Given the description of an element on the screen output the (x, y) to click on. 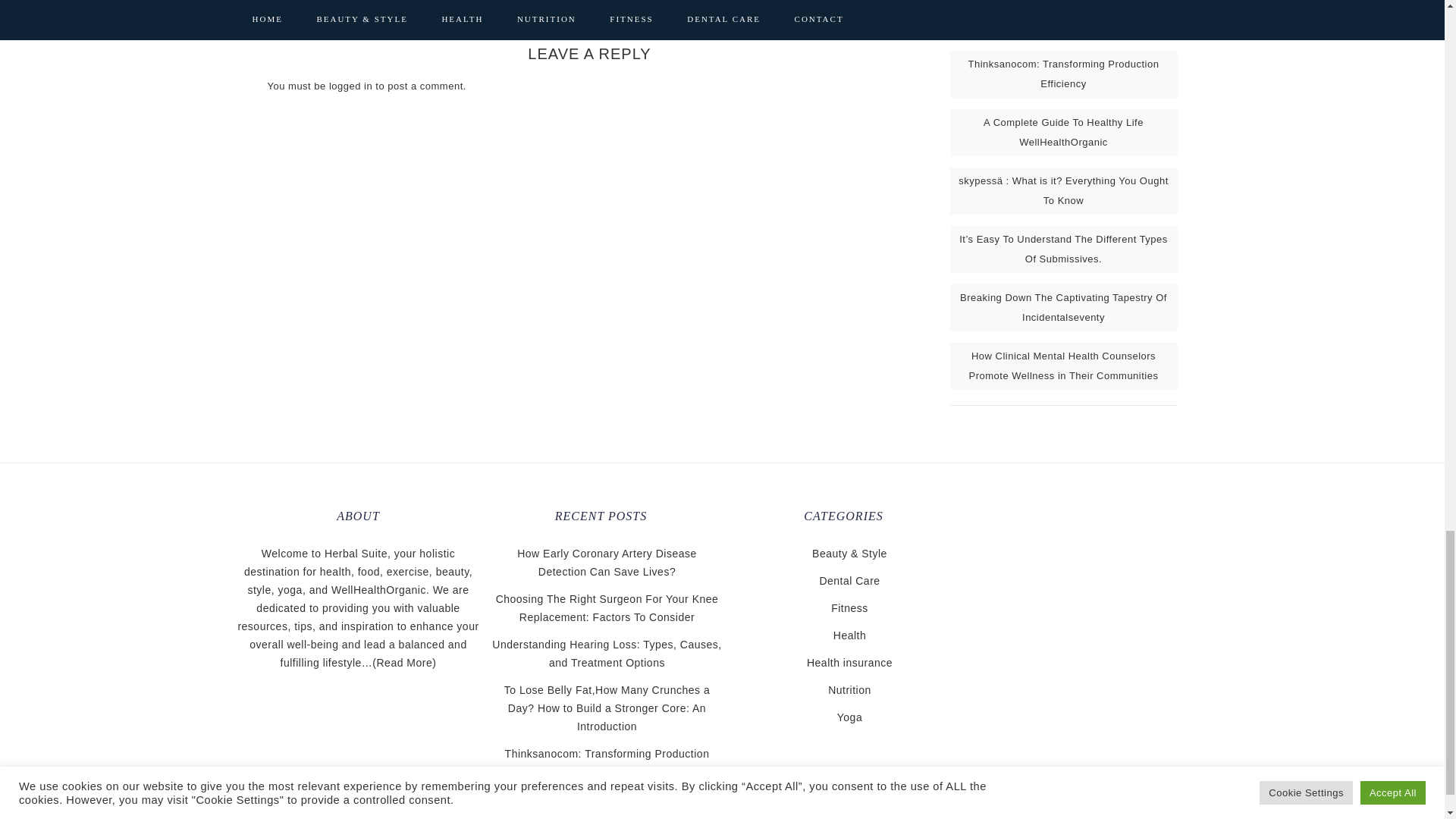
logged in (350, 85)
Thinksanocom: Transforming Production Efficiency (1063, 73)
